Given the description of an element on the screen output the (x, y) to click on. 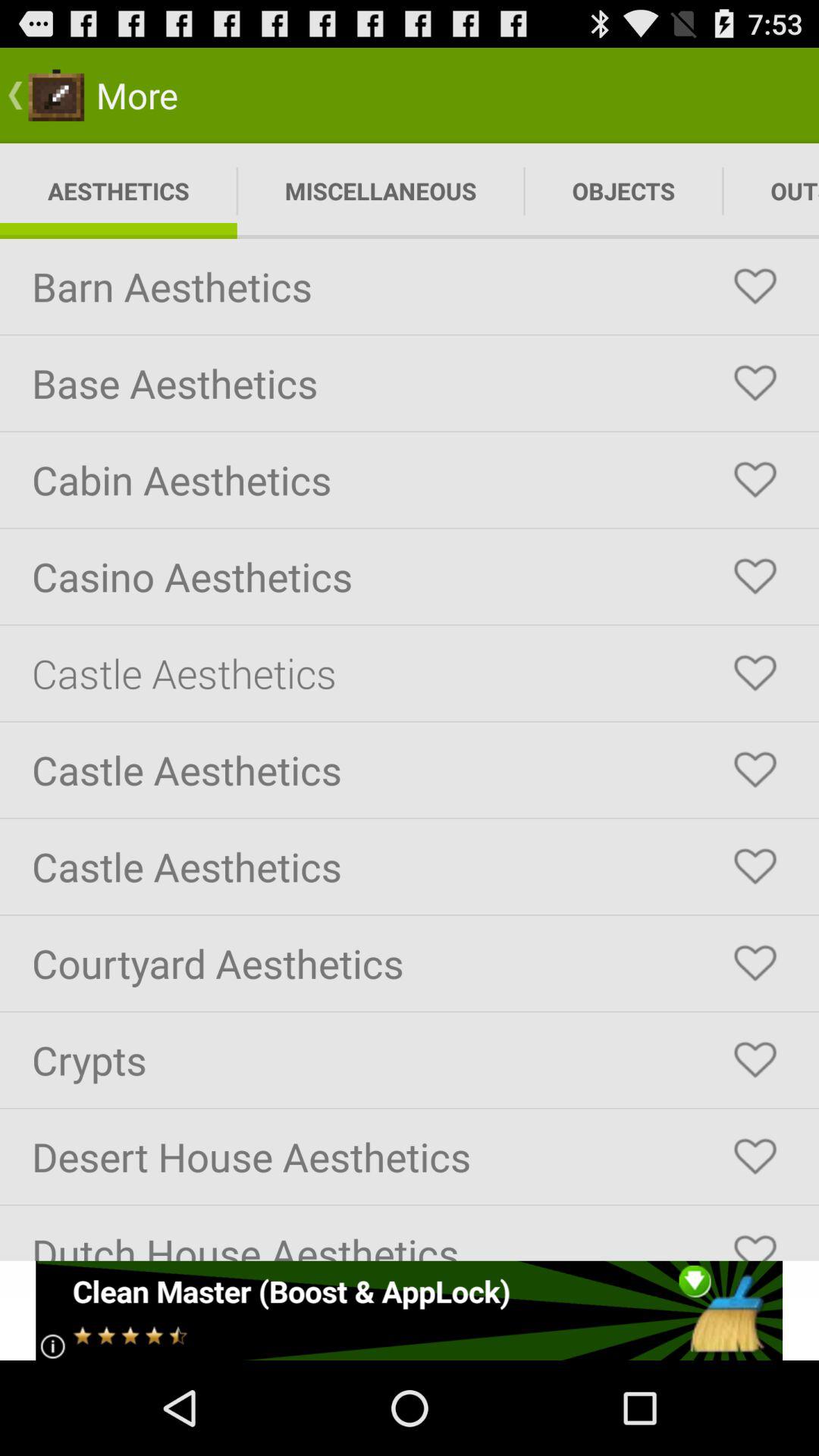
favorite dutch house aesthetics (755, 1240)
